Given the description of an element on the screen output the (x, y) to click on. 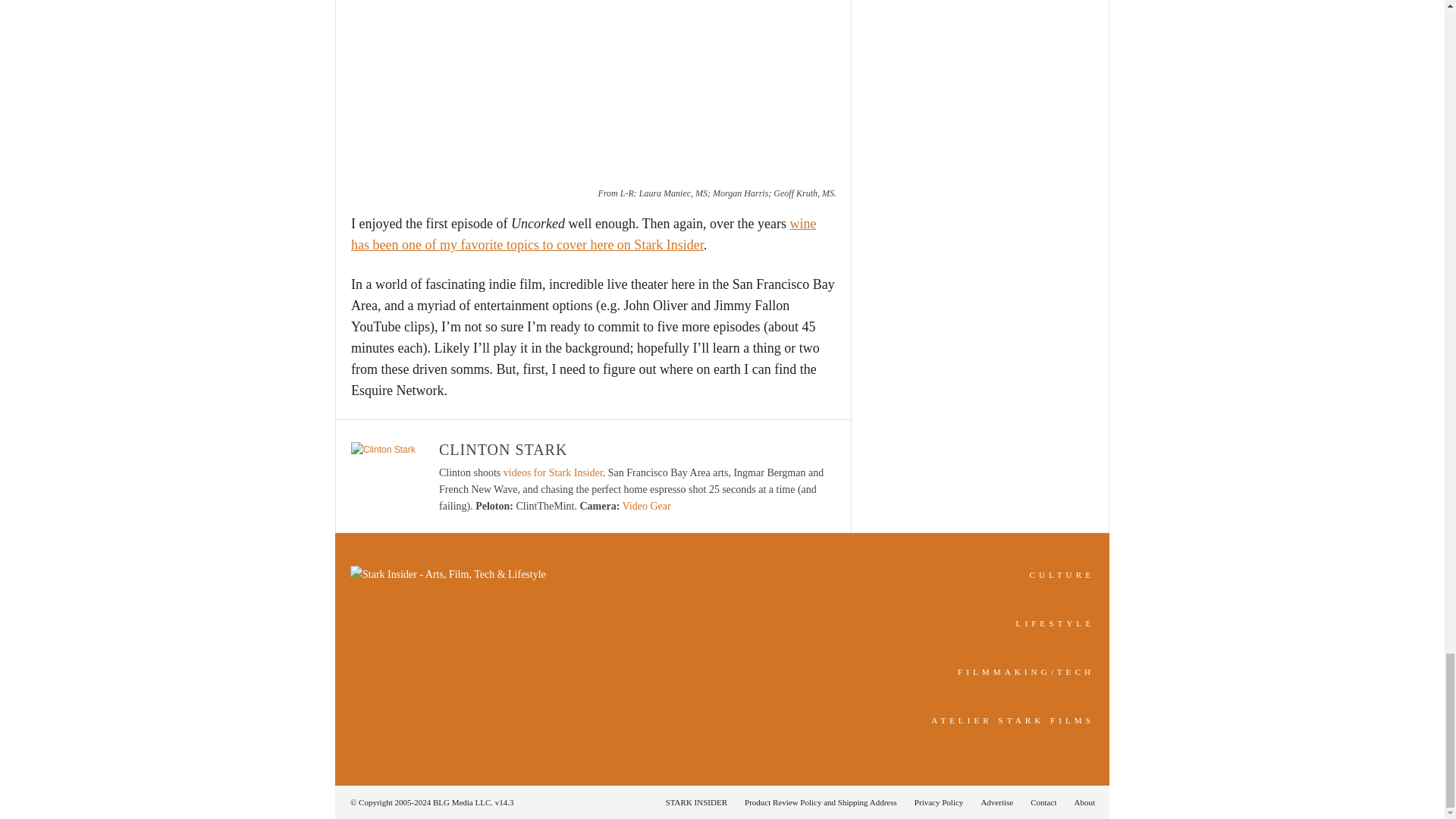
Privacy Policy (939, 801)
STARK INSIDER (696, 801)
LIFESTYLE (1055, 623)
CULTURE (1061, 574)
Advertise (996, 801)
ATELIER STARK FILMS (1012, 719)
Contact (1043, 801)
Product Review Policy and Shipping Address (820, 801)
About (1079, 801)
